Given the description of an element on the screen output the (x, y) to click on. 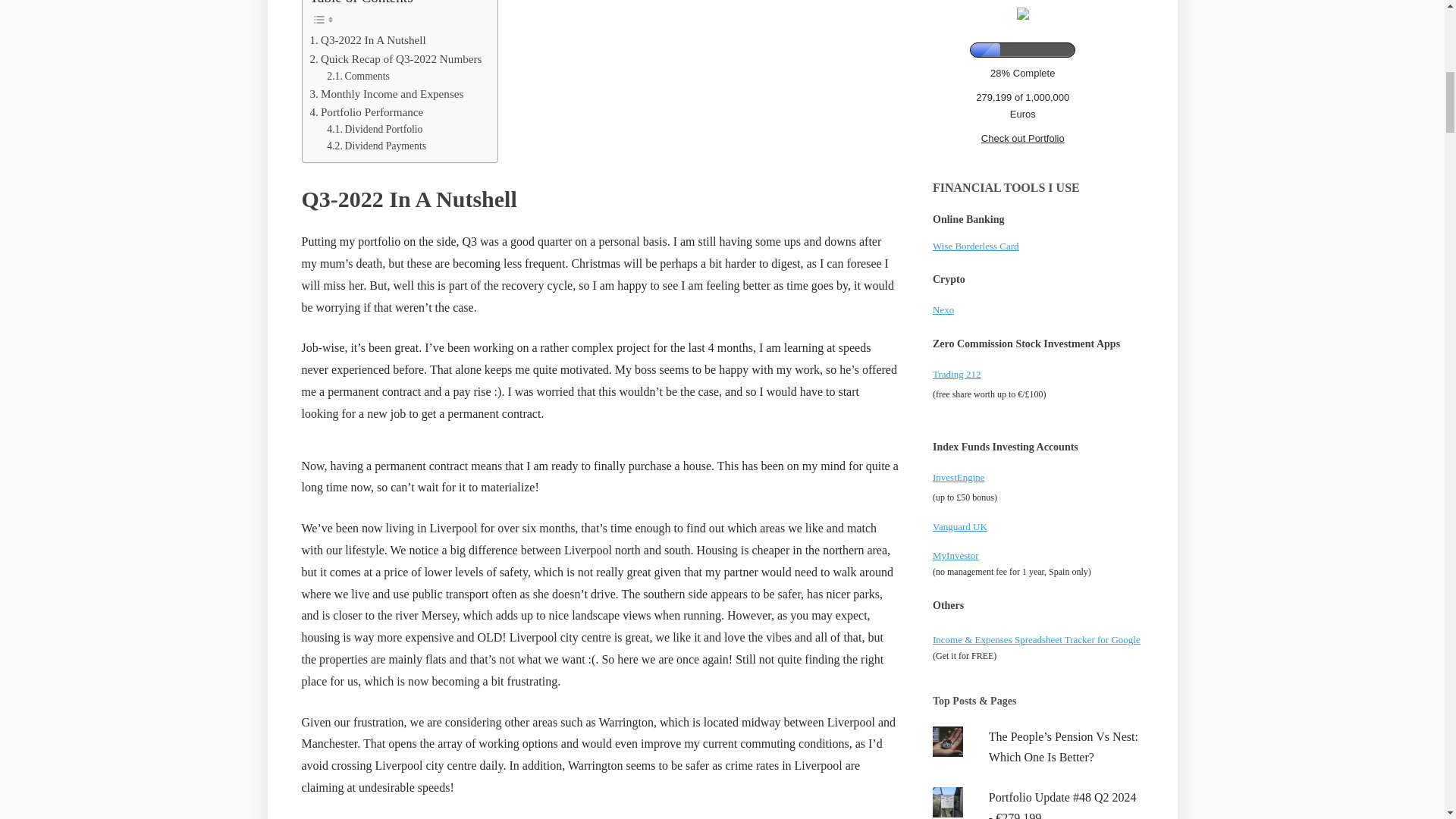
Dividend Payments (376, 146)
Q3-2022 In A Nutshell (366, 40)
Comments (358, 76)
Quick Recap of Q3-2022 Numbers (394, 58)
Monthly Income and Expenses (385, 94)
Portfolio Performance (365, 112)
Dividend Portfolio (374, 129)
